Given the description of an element on the screen output the (x, y) to click on. 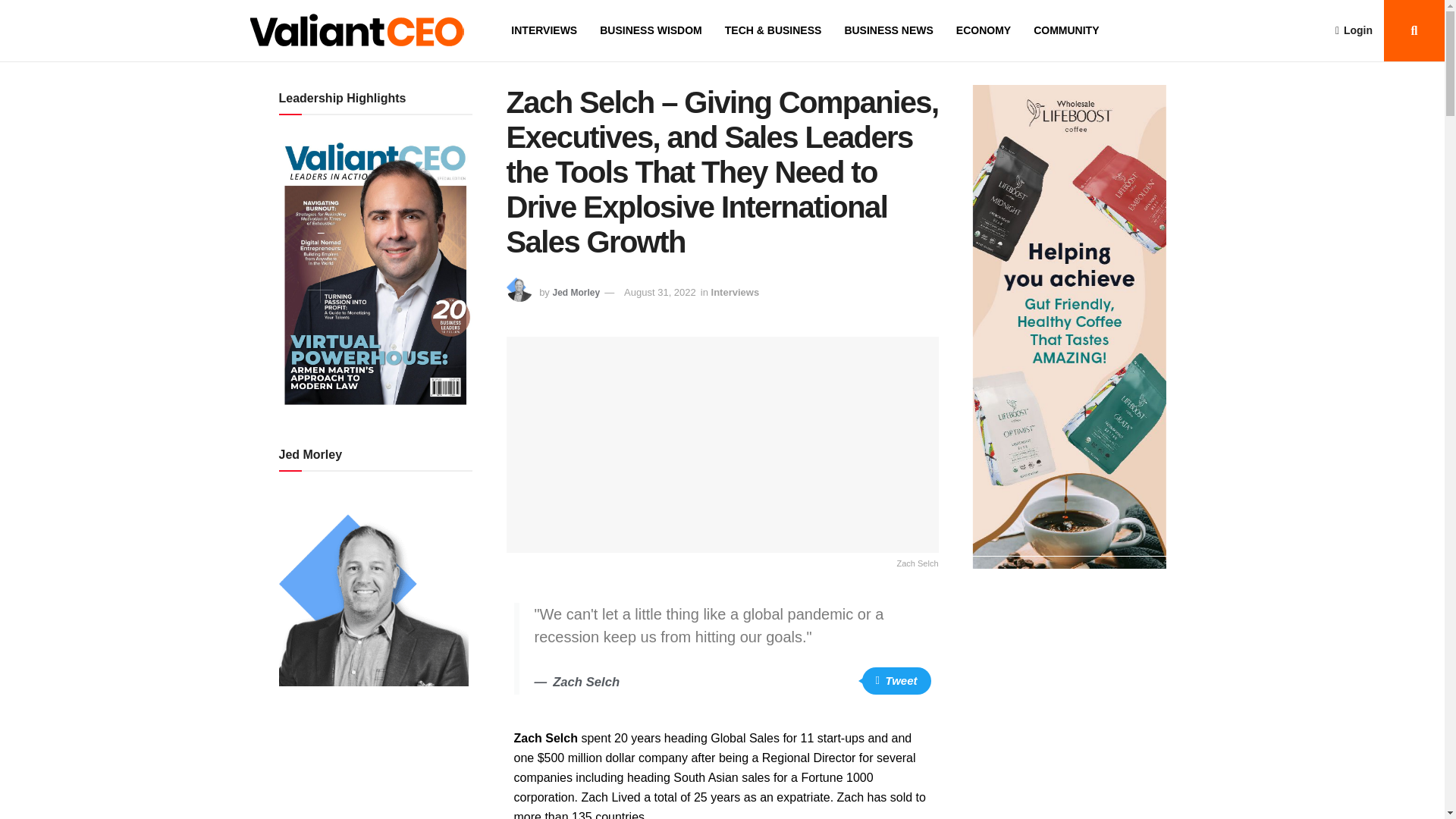
BUSINESS NEWS (888, 30)
COMMUNITY (1066, 30)
ECONOMY (983, 30)
August 31, 2022 (659, 292)
BUSINESS WISDOM (650, 30)
Zach Selch (722, 453)
Interviews (735, 292)
Jed Morley (575, 292)
Tweet (896, 680)
INTERVIEWS (543, 30)
